Given the description of an element on the screen output the (x, y) to click on. 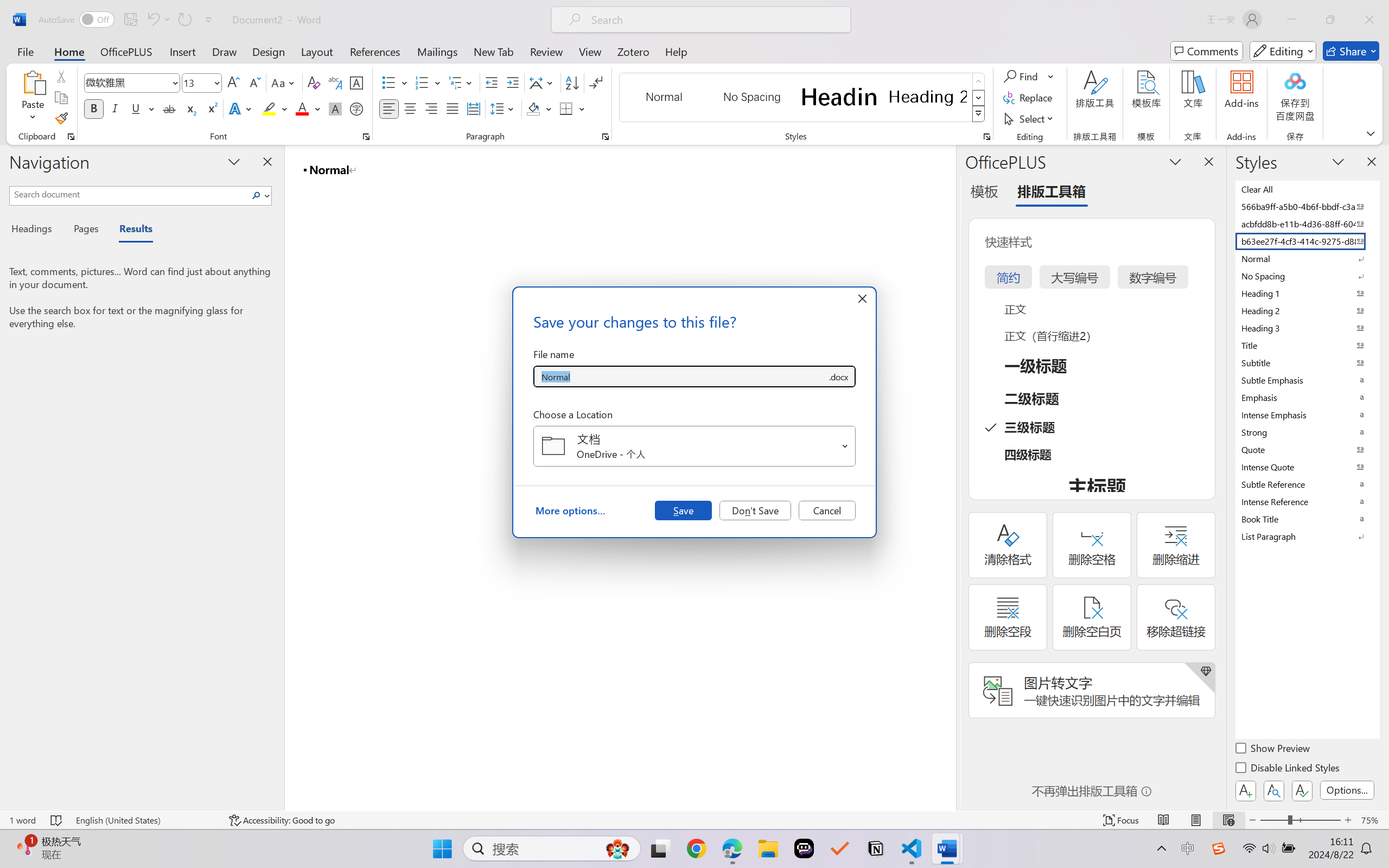
Don't Save (755, 509)
Zotero (632, 51)
Replace... (1029, 97)
Undo <ApplyStyleToDoc>b__0 (158, 19)
Quick Access Toolbar (127, 19)
Styles (978, 113)
Title (1306, 345)
566ba9ff-a5b0-4b6f-bbdf-c3ab41993fc2 (1306, 206)
Choose a Location (694, 446)
Headings (35, 229)
